Given the description of an element on the screen output the (x, y) to click on. 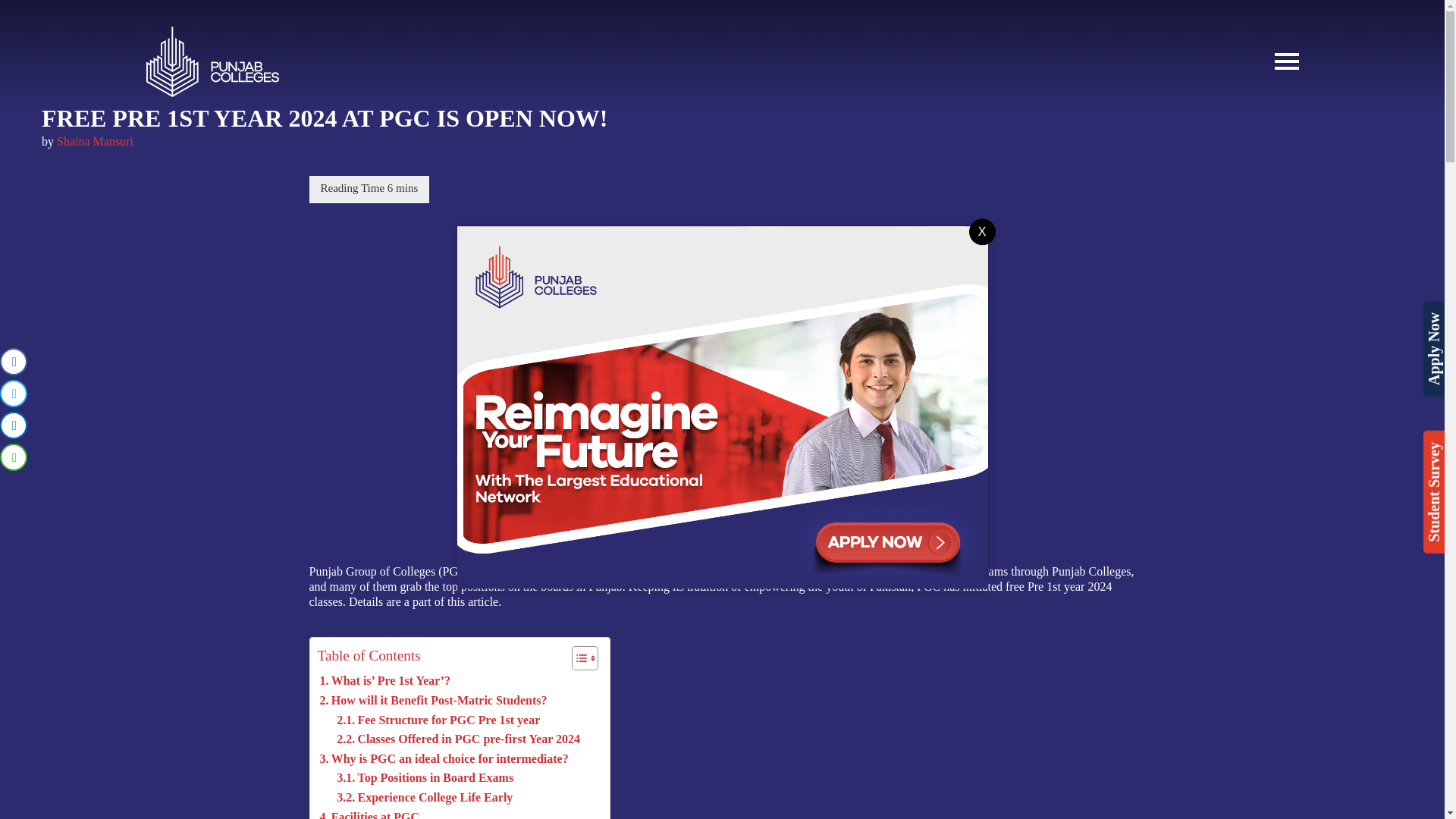
How will it Benefit Post-Matric Students?  (433, 700)
Fee Structure for PGC Pre 1st year  (438, 720)
Shaina Mansuri (94, 141)
